Given the description of an element on the screen output the (x, y) to click on. 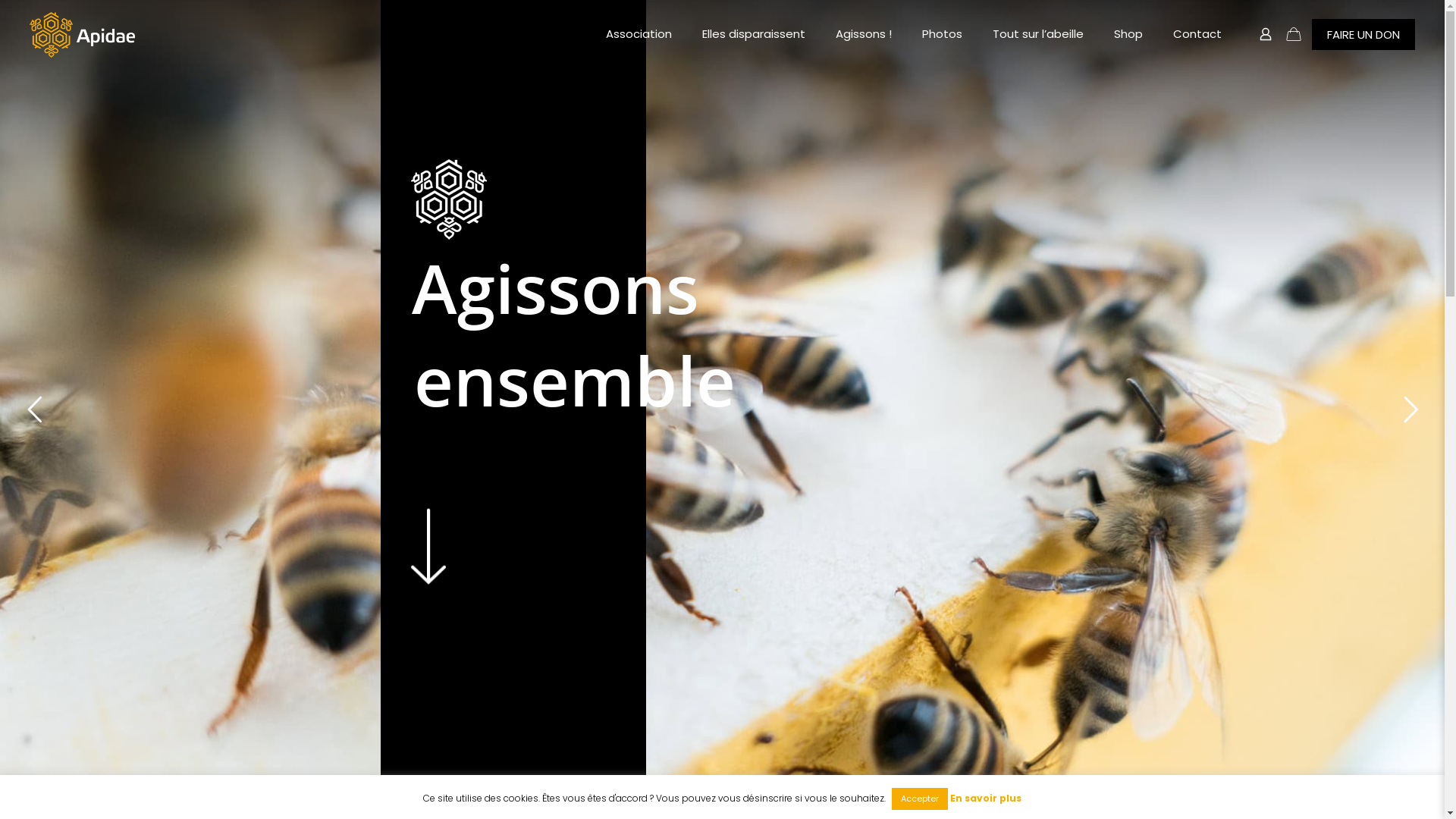
Elles disparaissent Element type: text (753, 34)
Accepter Element type: text (919, 798)
Agissons ! Element type: text (863, 34)
En savoir plus Element type: text (985, 798)
FAIRE UN DON Element type: text (1363, 33)
APIDAE Element type: hover (81, 34)
Shop Element type: text (1127, 34)
Contact Element type: text (1196, 34)
Photos Element type: text (941, 34)
Association Element type: text (638, 34)
